Given the description of an element on the screen output the (x, y) to click on. 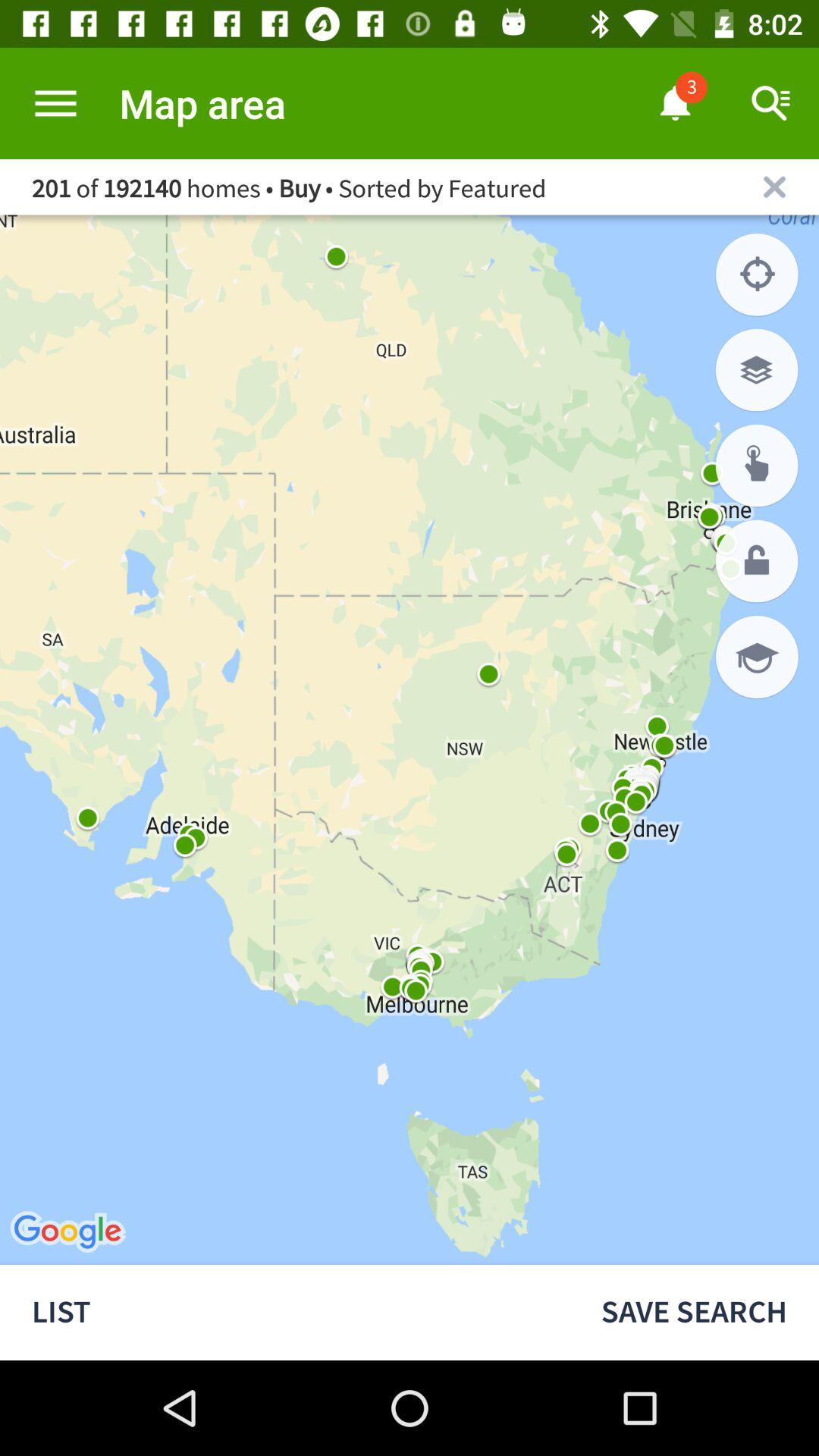
tap icon below 201 of 192140 item (756, 274)
